Given the description of an element on the screen output the (x, y) to click on. 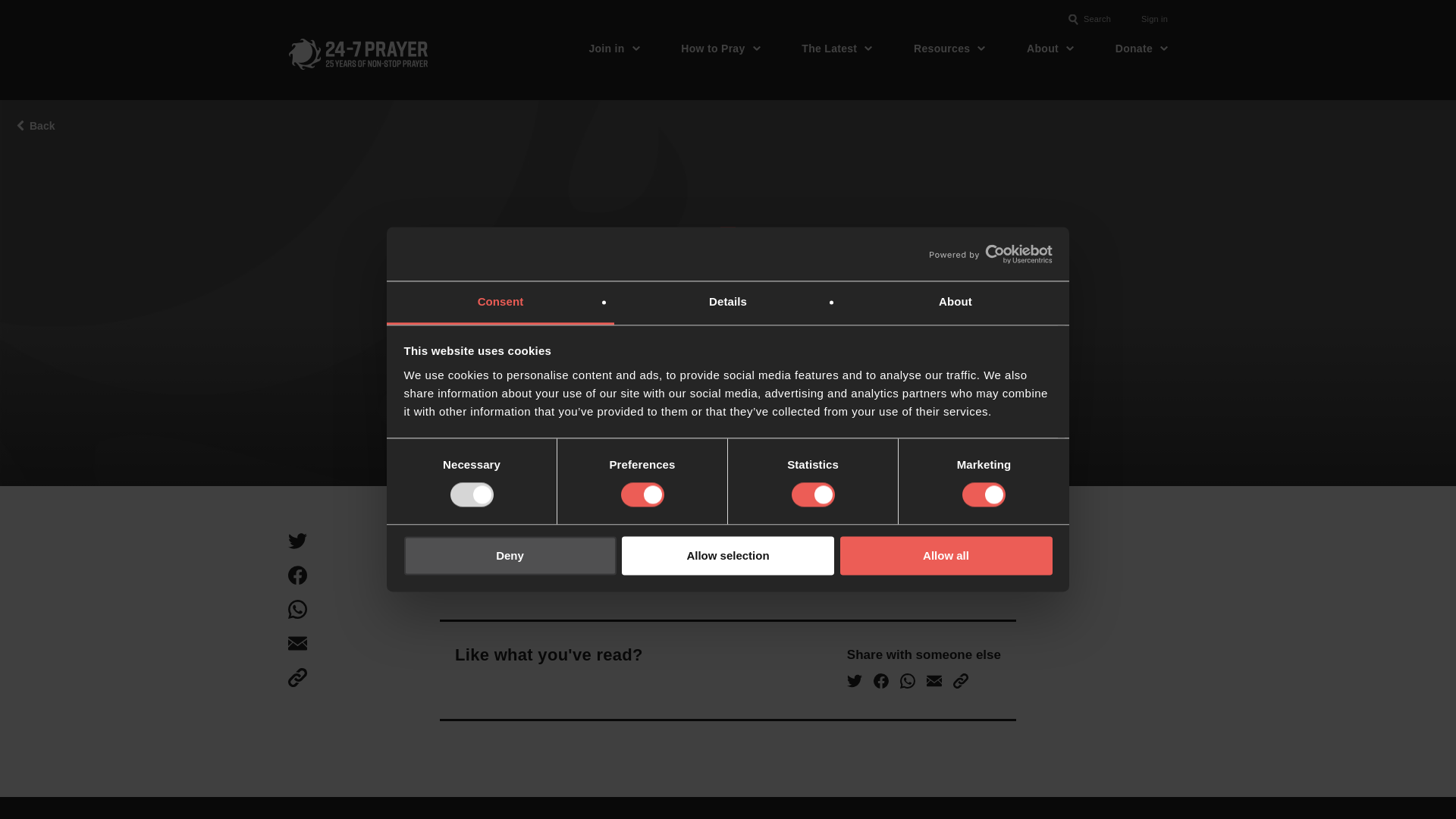
About (954, 302)
Details (727, 302)
Consent (500, 302)
